Given the description of an element on the screen output the (x, y) to click on. 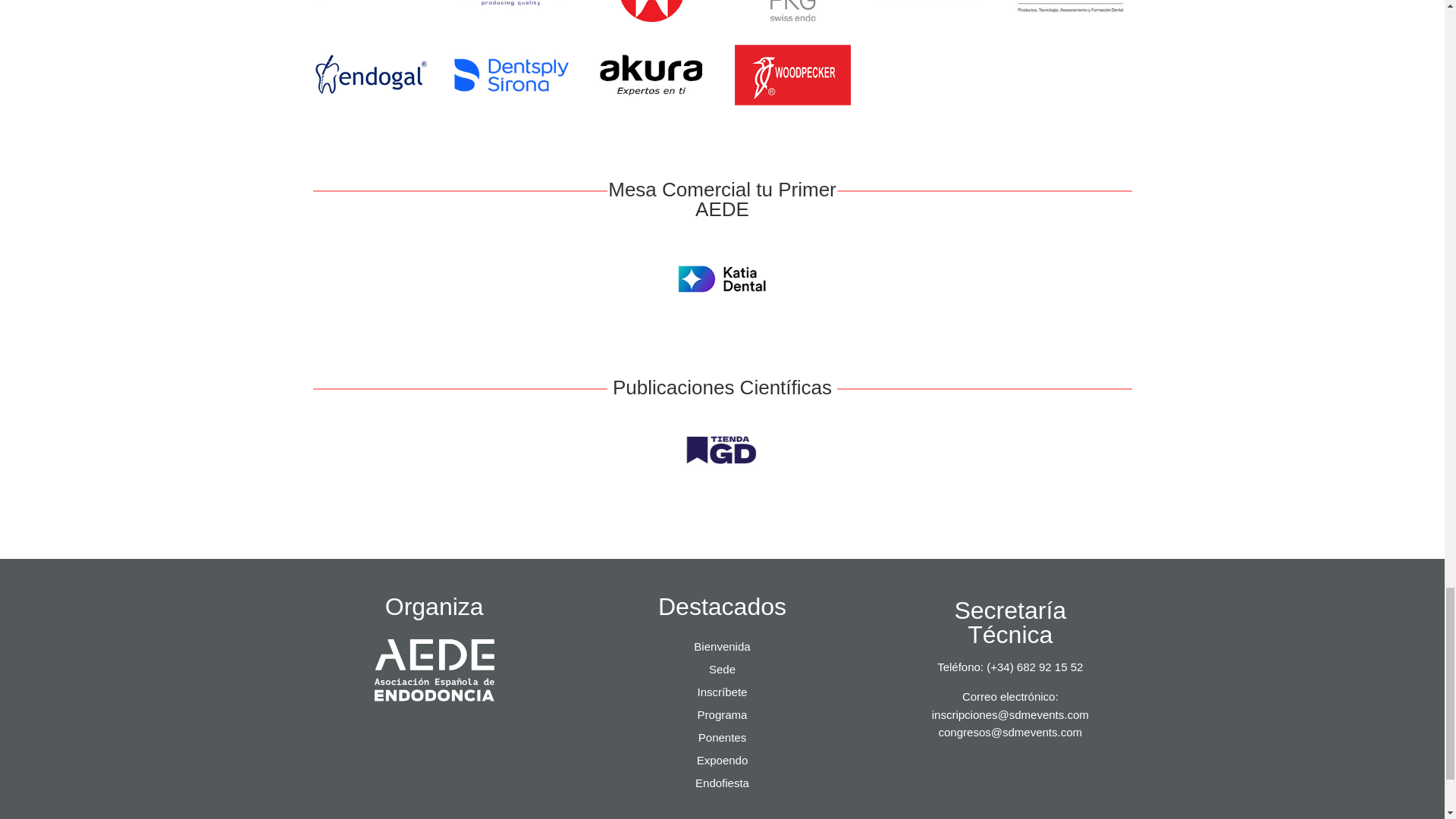
OPTOMIC (510, 11)
Expoendo (722, 763)
Programa (722, 718)
COLTENE (933, 11)
Sede (722, 672)
ORASCOPTIC (370, 11)
FKG (792, 11)
Bienvenida (721, 649)
SEPTODONT (652, 11)
Endofiesta (722, 786)
